Given the description of an element on the screen output the (x, y) to click on. 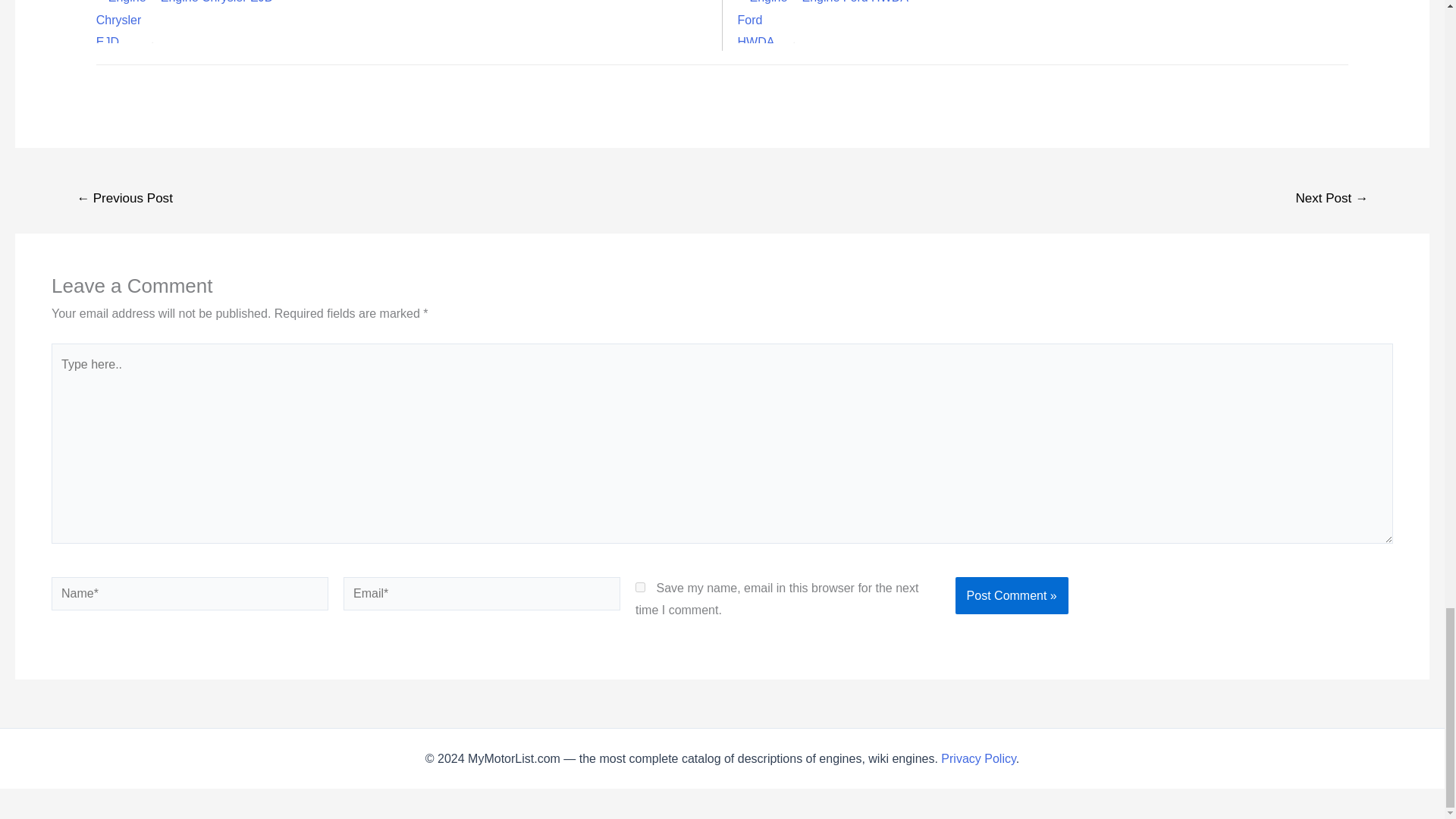
yes (639, 587)
